Given the description of an element on the screen output the (x, y) to click on. 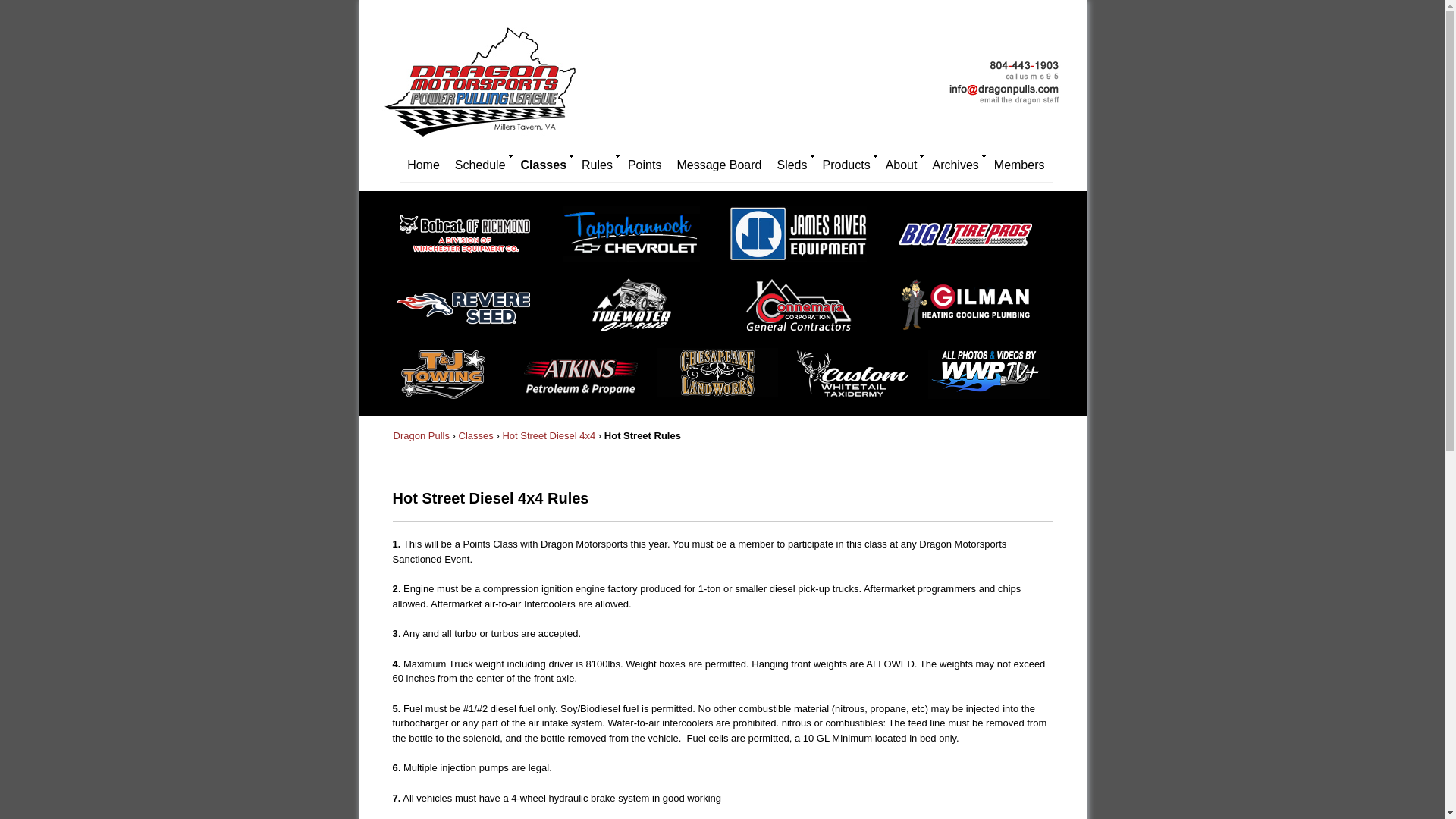
Rules (596, 165)
Tappahannock Chevy (638, 240)
Custom Whitetail Taxidermy (857, 380)
Tidewater Offroad (638, 310)
Bobcat of Richmond (471, 240)
James River Equipment (805, 240)
Chesapeake Land Works (719, 380)
Connemara Contracting (805, 310)
Schedule (479, 165)
Home (422, 165)
